Given the description of an element on the screen output the (x, y) to click on. 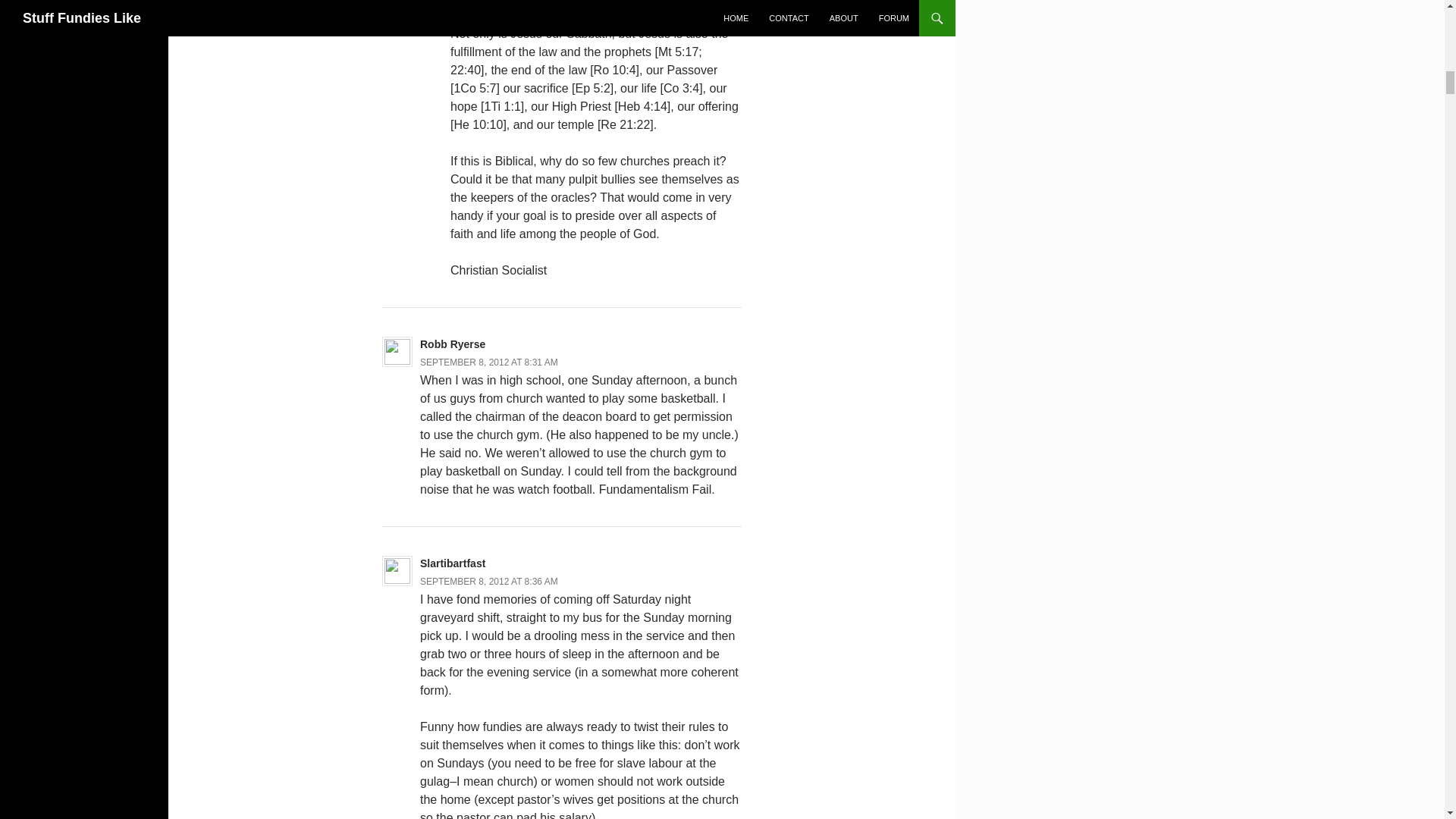
Robb Ryerse (452, 344)
SEPTEMBER 8, 2012 AT 8:36 AM (488, 581)
SEPTEMBER 8, 2012 AT 8:31 AM (488, 362)
